Given the description of an element on the screen output the (x, y) to click on. 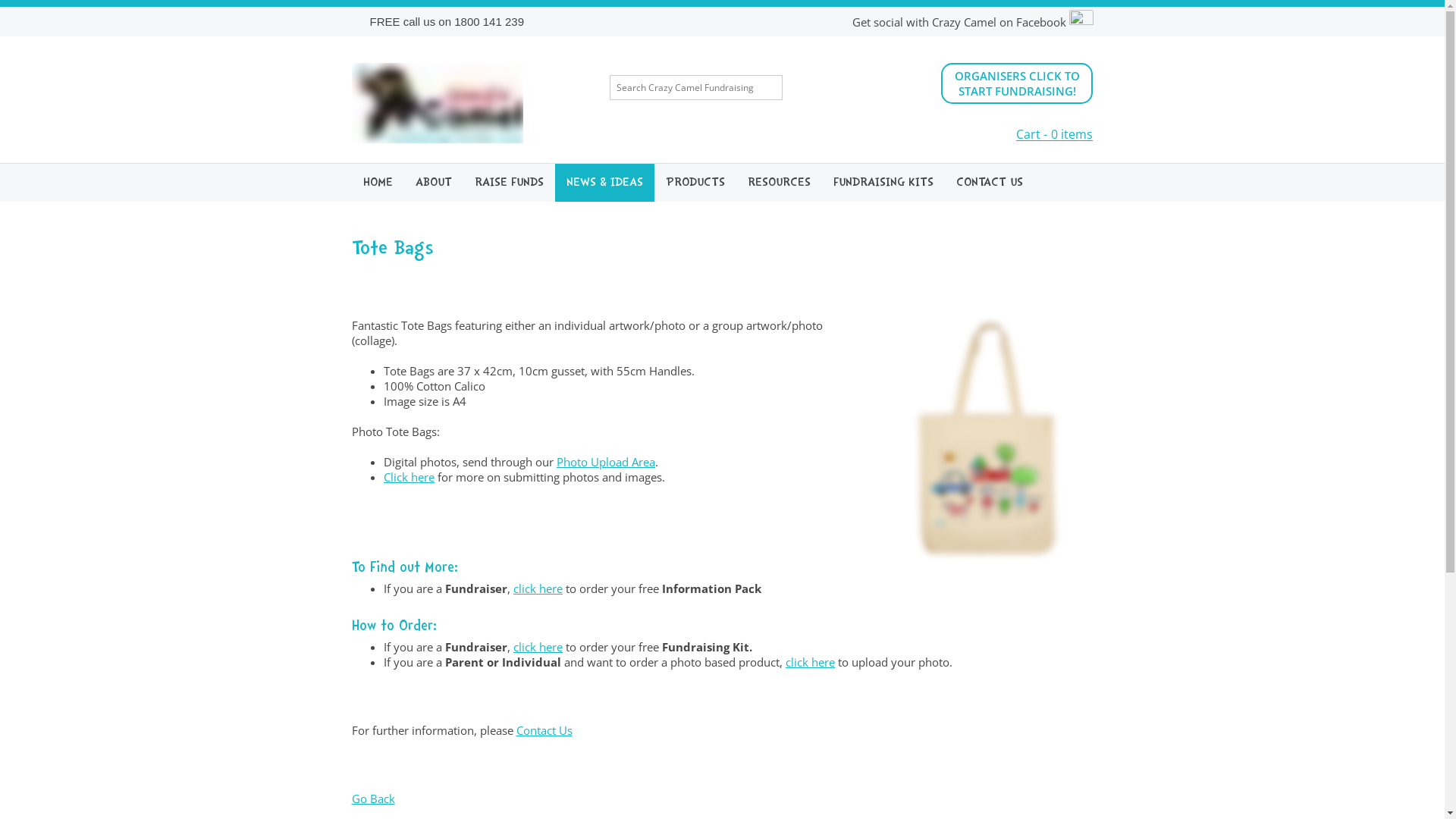
RESOURCES Element type: text (778, 182)
click here Element type: text (537, 588)
HOME Element type: text (377, 182)
0 items
Cart - Element type: text (1054, 133)
PRODUCTS Element type: text (694, 182)
ABOUT Element type: text (432, 182)
Photo Upload Area Element type: text (605, 461)
click here Element type: text (537, 646)
RAISE FUNDS Element type: text (508, 182)
ORGANISERS CLICK TO START FUNDRAISING! Element type: text (1016, 82)
Click here Element type: text (408, 476)
click here Element type: text (809, 661)
CONTACT US Element type: text (989, 182)
Go Back Element type: text (373, 798)
Contact Us Element type: text (543, 729)
FUNDRAISING KITS Element type: text (883, 182)
NEWS & IDEAS Element type: text (604, 182)
1800 141 239 Element type: text (489, 21)
